Given the description of an element on the screen output the (x, y) to click on. 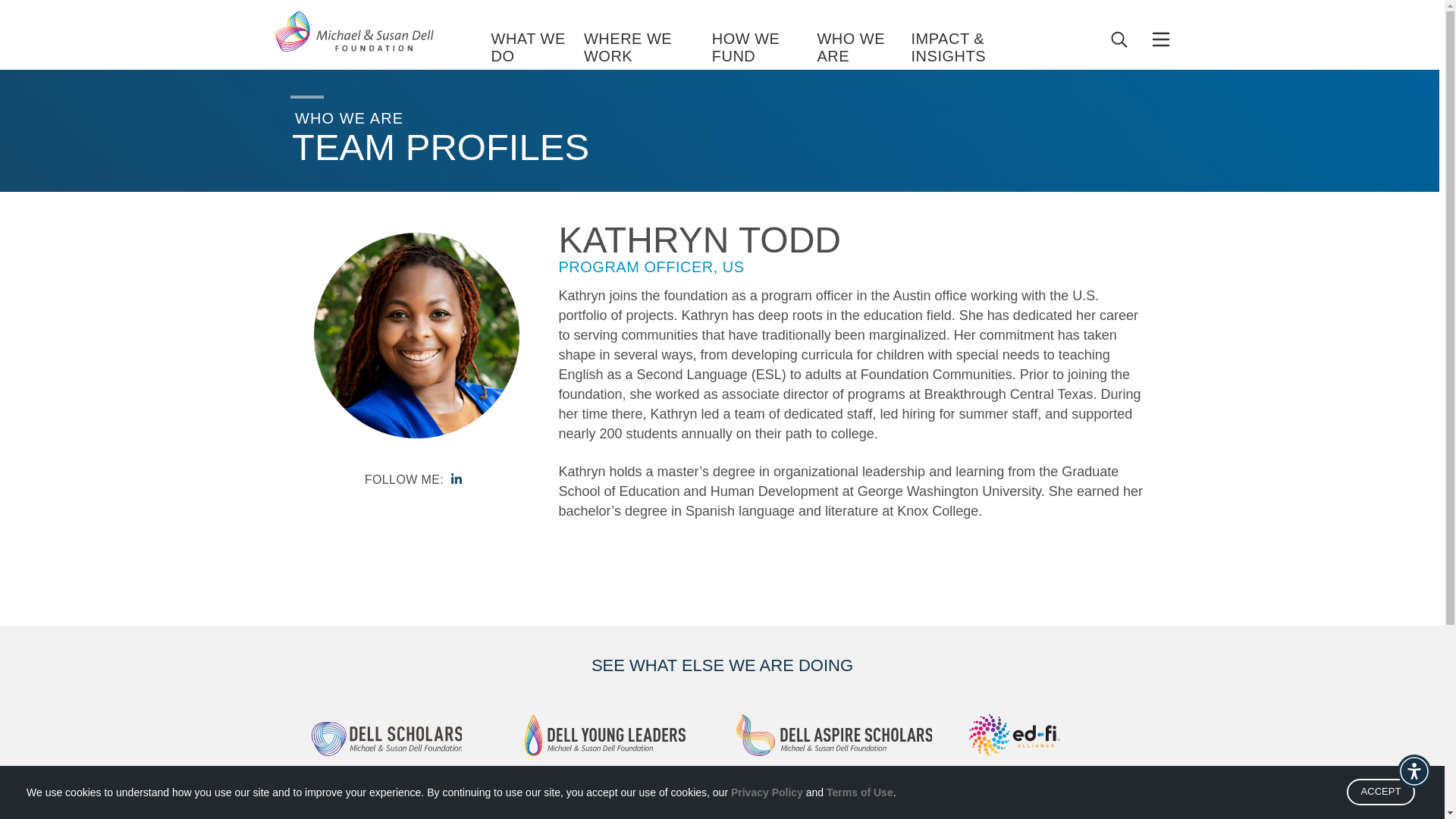
HOW WE FUND (763, 49)
WHO WE ARE (863, 49)
Accessibility Menu (1414, 770)
WHERE WE WORK (647, 49)
WHAT WE DO (537, 49)
